Given the description of an element on the screen output the (x, y) to click on. 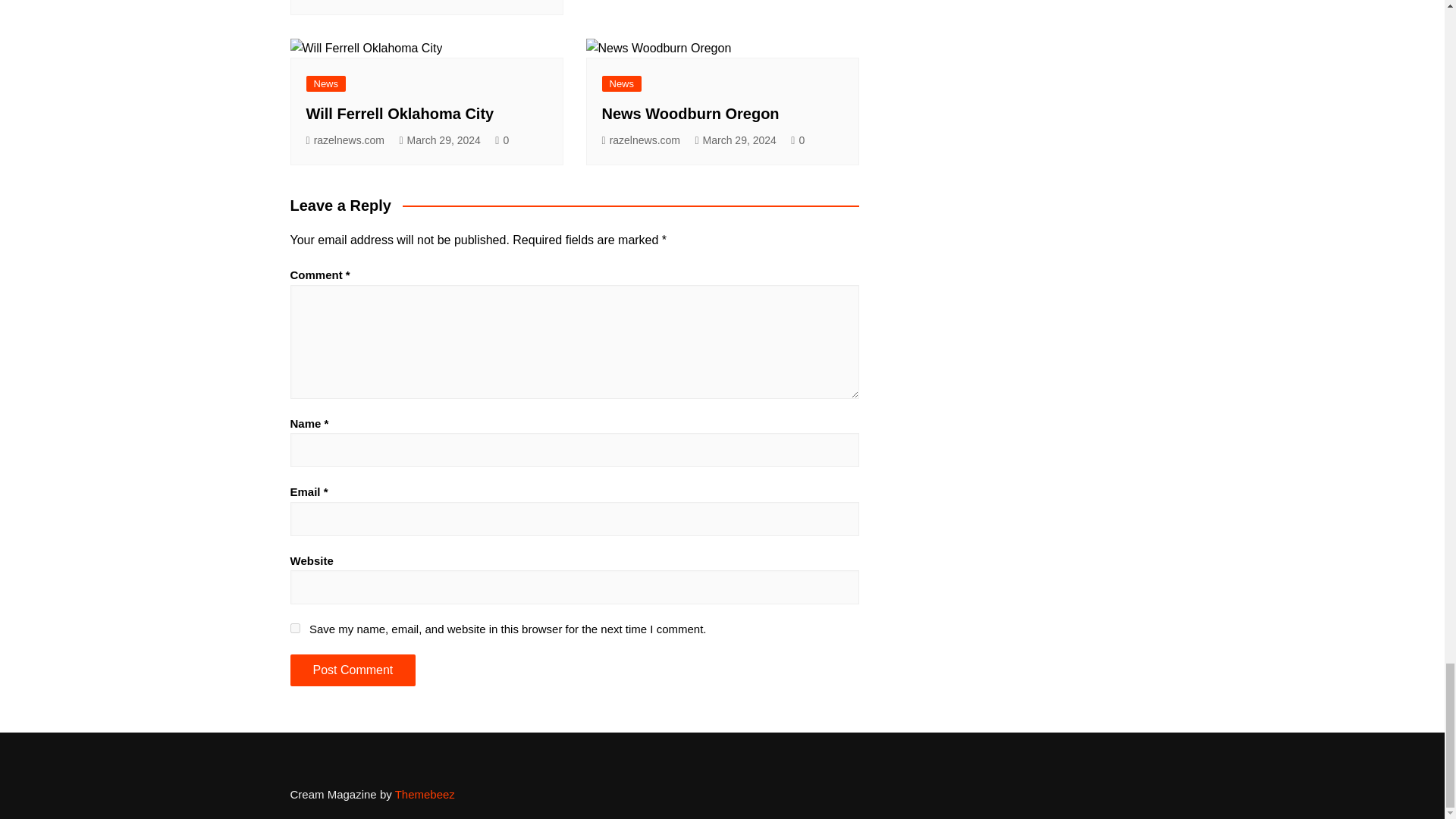
Post Comment (351, 670)
yes (294, 628)
